Given the description of an element on the screen output the (x, y) to click on. 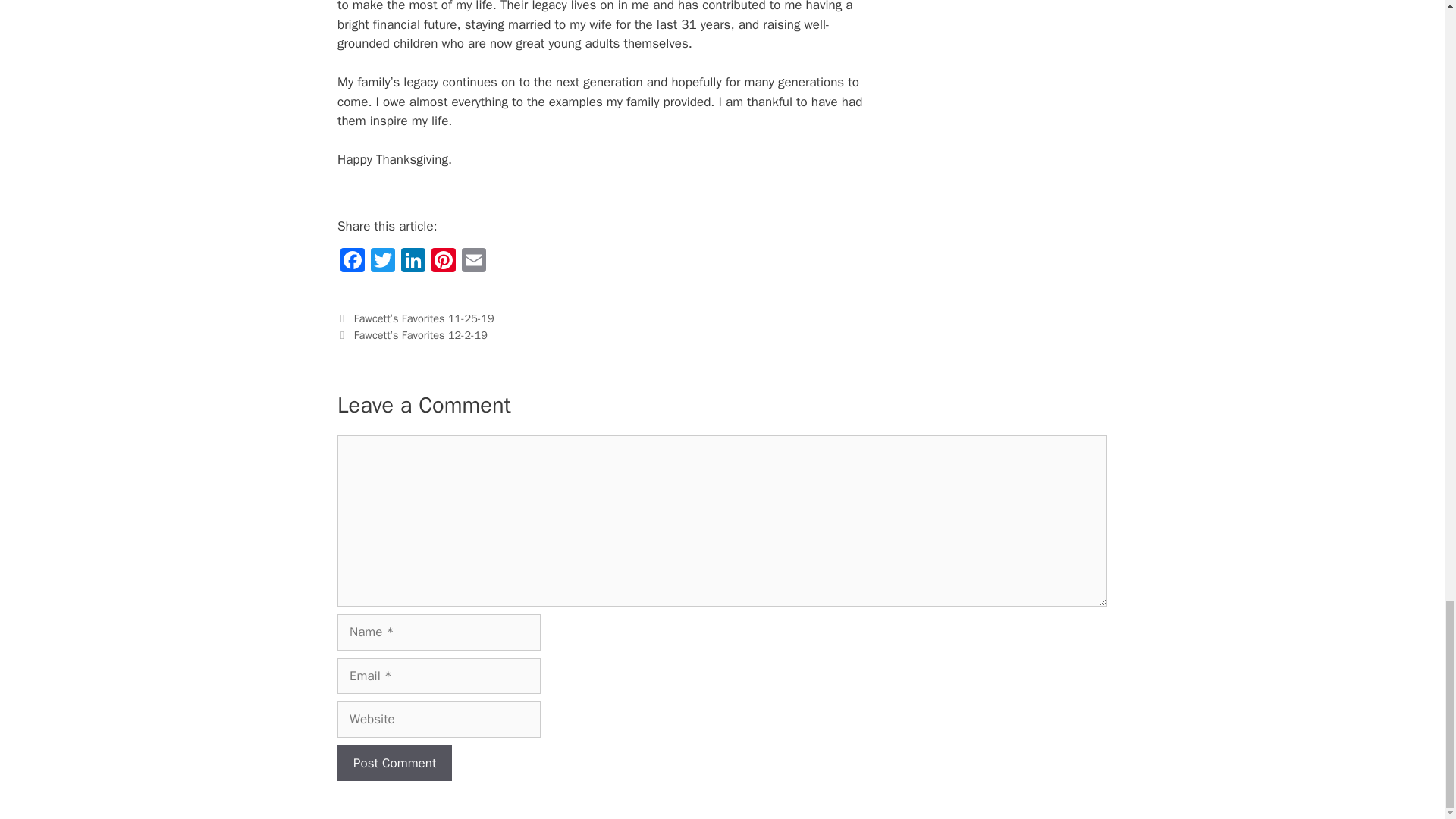
LinkedIn (412, 262)
Email (473, 262)
Pinterest (443, 262)
Post Comment (394, 763)
Facebook (352, 262)
Twitter (382, 262)
